Given the description of an element on the screen output the (x, y) to click on. 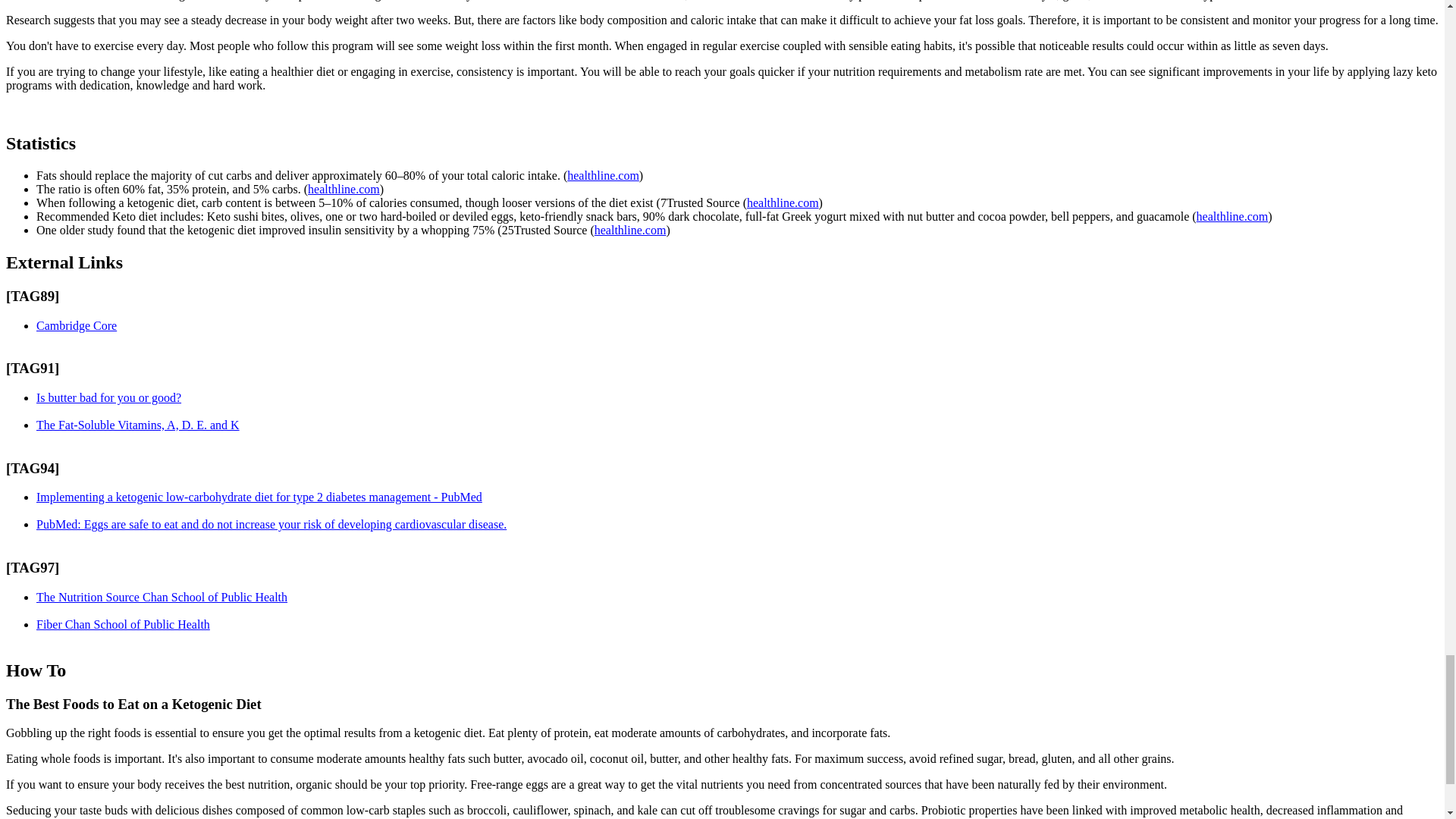
healthline.com (782, 202)
healthline.com (603, 174)
healthline.com (343, 188)
